Given the description of an element on the screen output the (x, y) to click on. 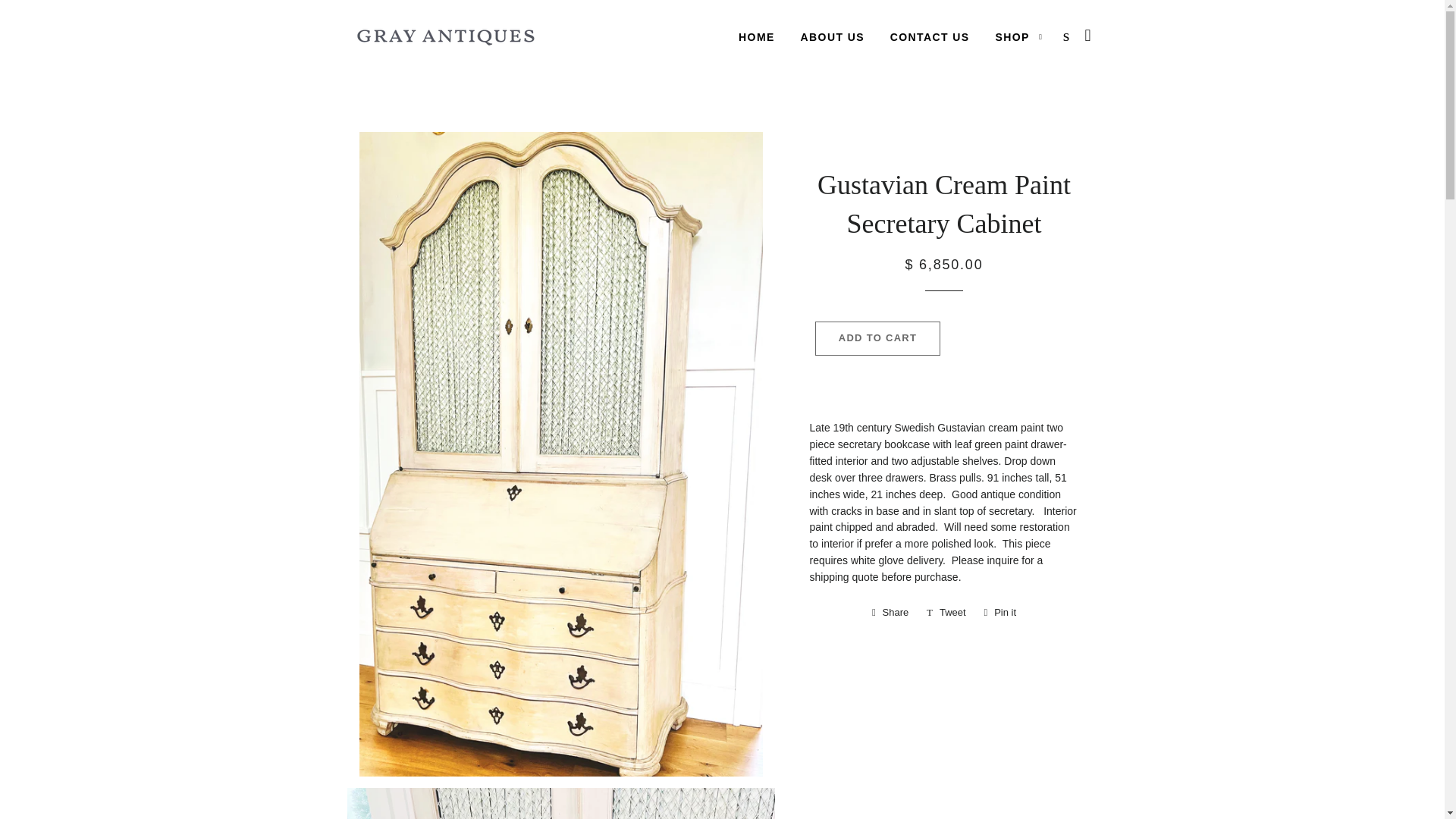
Share on Facebook (889, 612)
SHOP (1000, 612)
ABOUT US (1019, 37)
CONTACT US (832, 37)
Tweet on Twitter (930, 37)
ADD TO CART (946, 612)
Pin on Pinterest (889, 612)
HOME (877, 337)
